Given the description of an element on the screen output the (x, y) to click on. 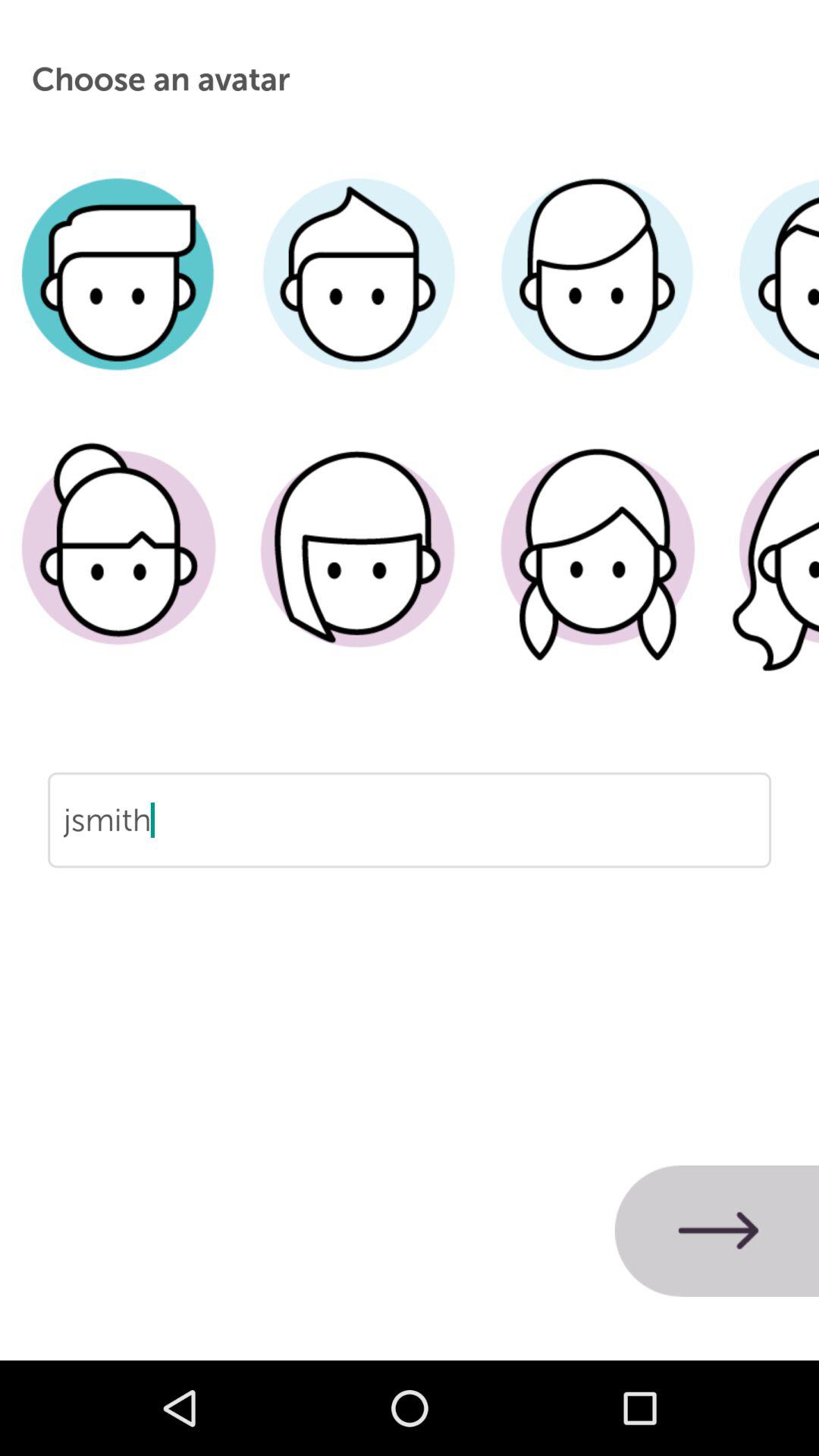
choose the jsmith icon (409, 867)
